Given the description of an element on the screen output the (x, y) to click on. 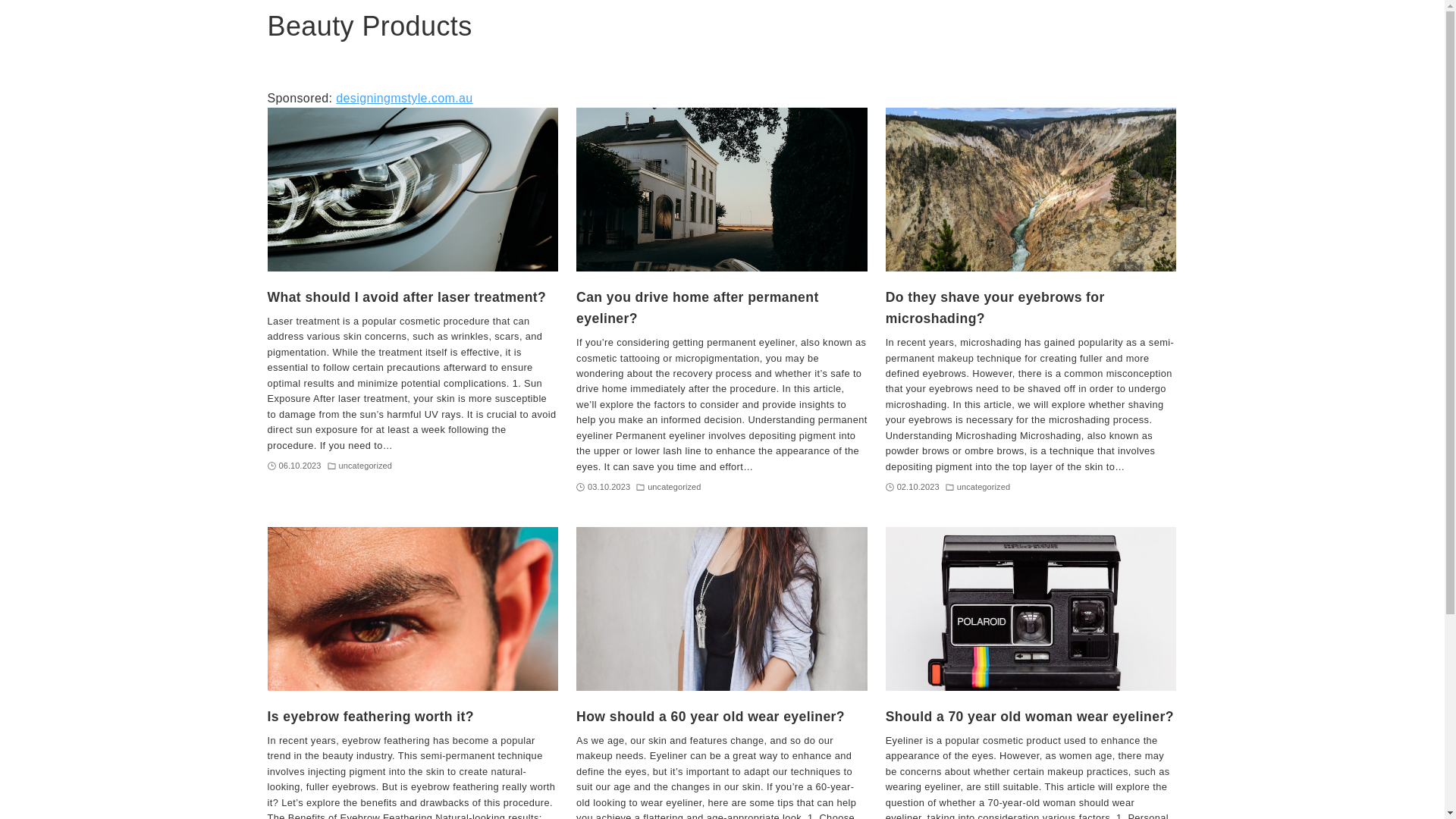
search Element type: text (921, 421)
Beauty Products Element type: text (368, 26)
designingmstyle.com.au Element type: text (403, 97)
